Given the description of an element on the screen output the (x, y) to click on. 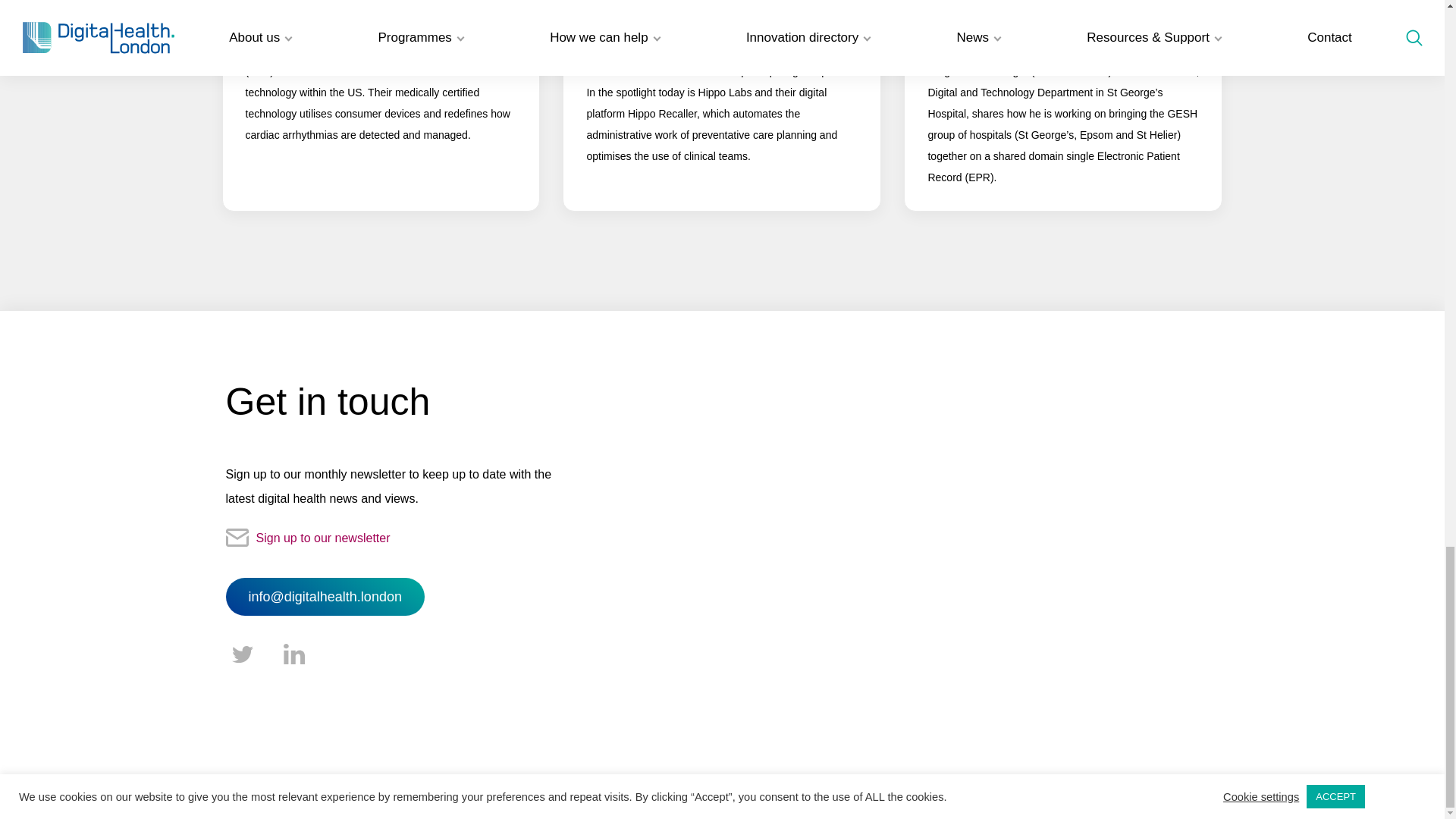
LinkedIn (294, 654)
Twitter (242, 654)
